Given the description of an element on the screen output the (x, y) to click on. 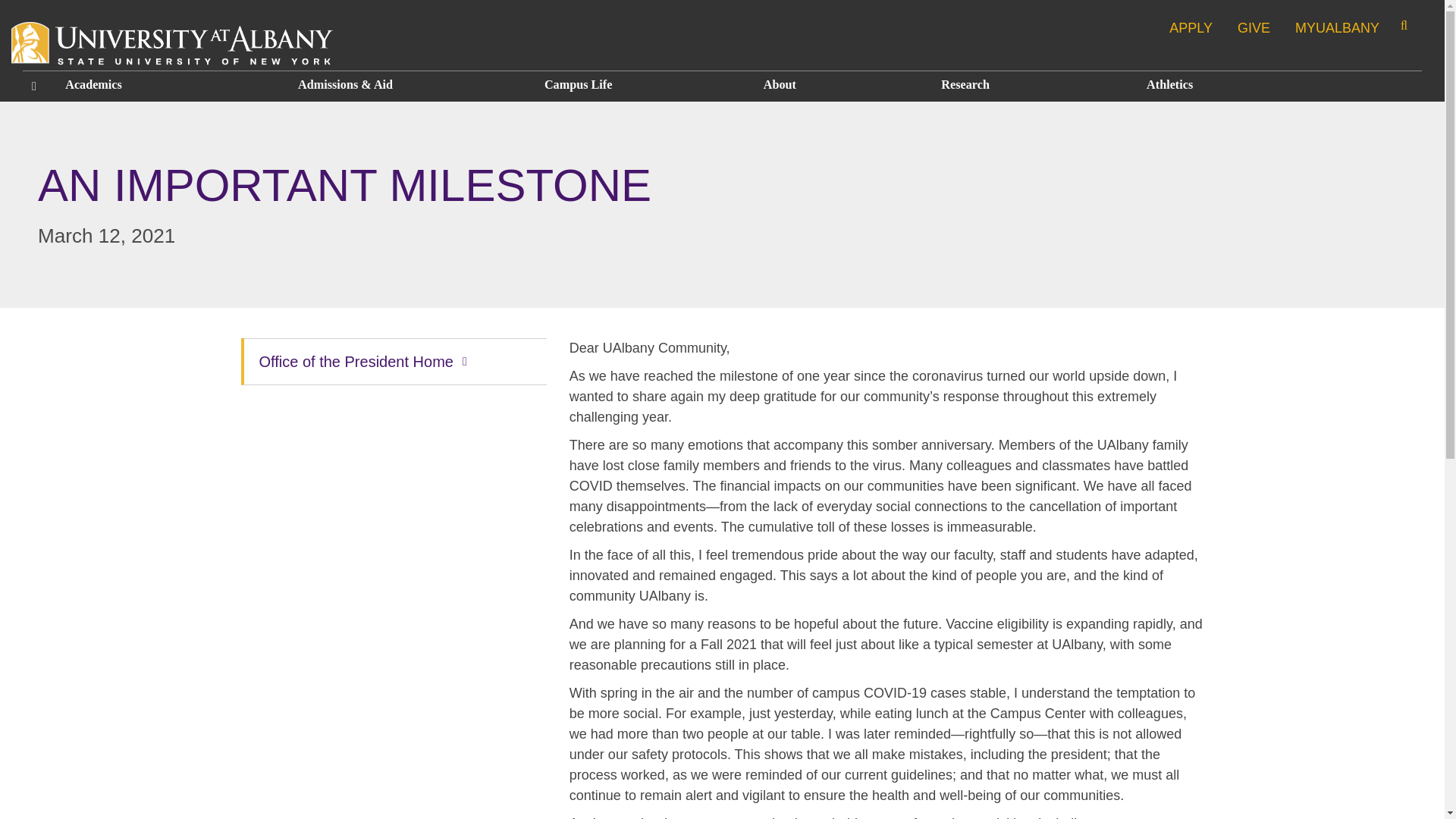
MYUALBANY (1337, 27)
GIVE (1253, 27)
Campus Life (641, 85)
Academics (168, 85)
About (840, 85)
Link to Faculty and Staff Portal (1337, 27)
Apply to the University (1190, 27)
APPLY (1190, 27)
Donate to the University (1253, 27)
